Given the description of an element on the screen output the (x, y) to click on. 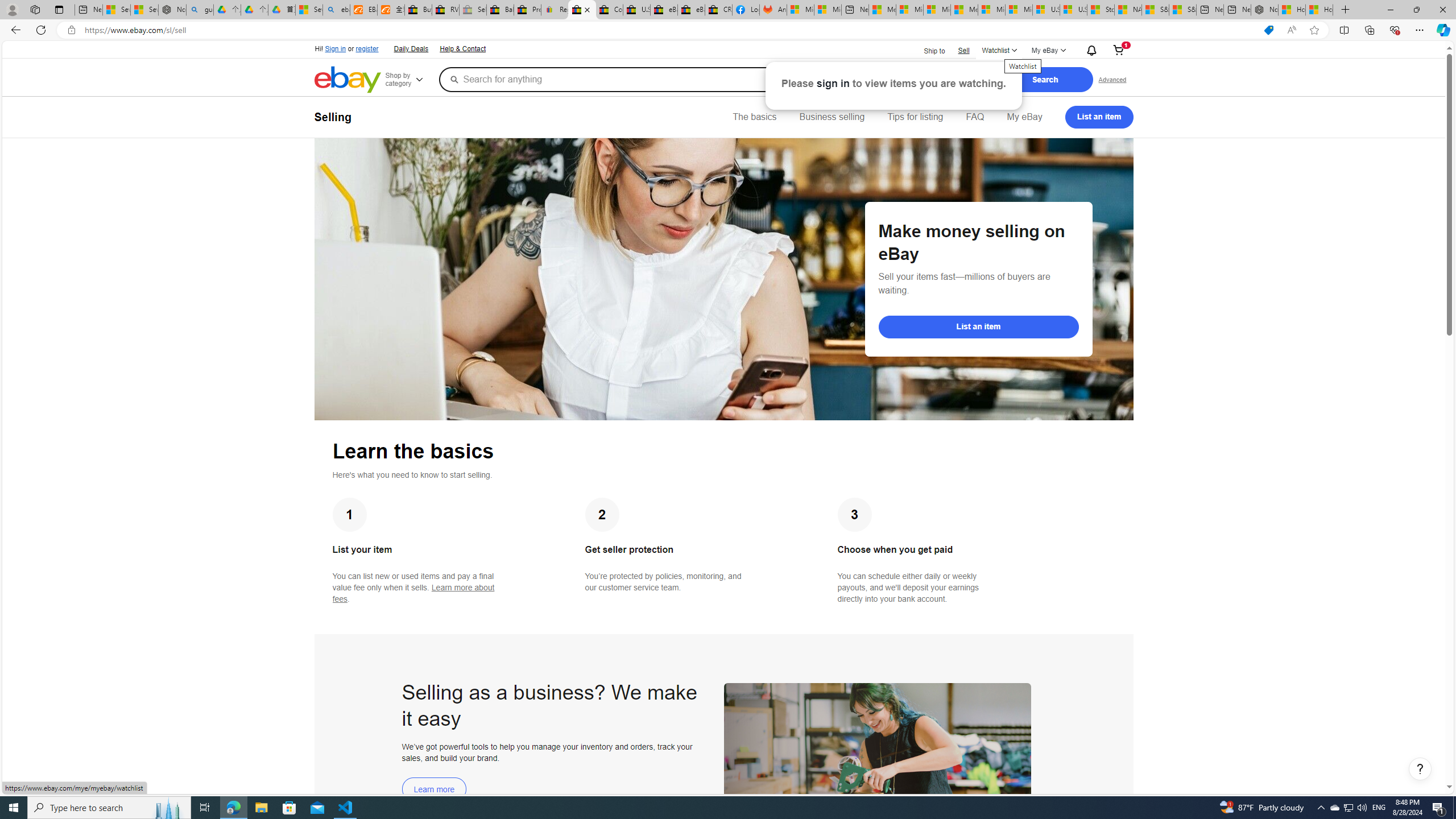
sign in (833, 83)
Shop by category (410, 79)
AutomationID: gh-eb-Alerts (1090, 49)
Learn more (434, 788)
Your shopping cart contains 1 item (1118, 50)
List an item (977, 326)
